Given the description of an element on the screen output the (x, y) to click on. 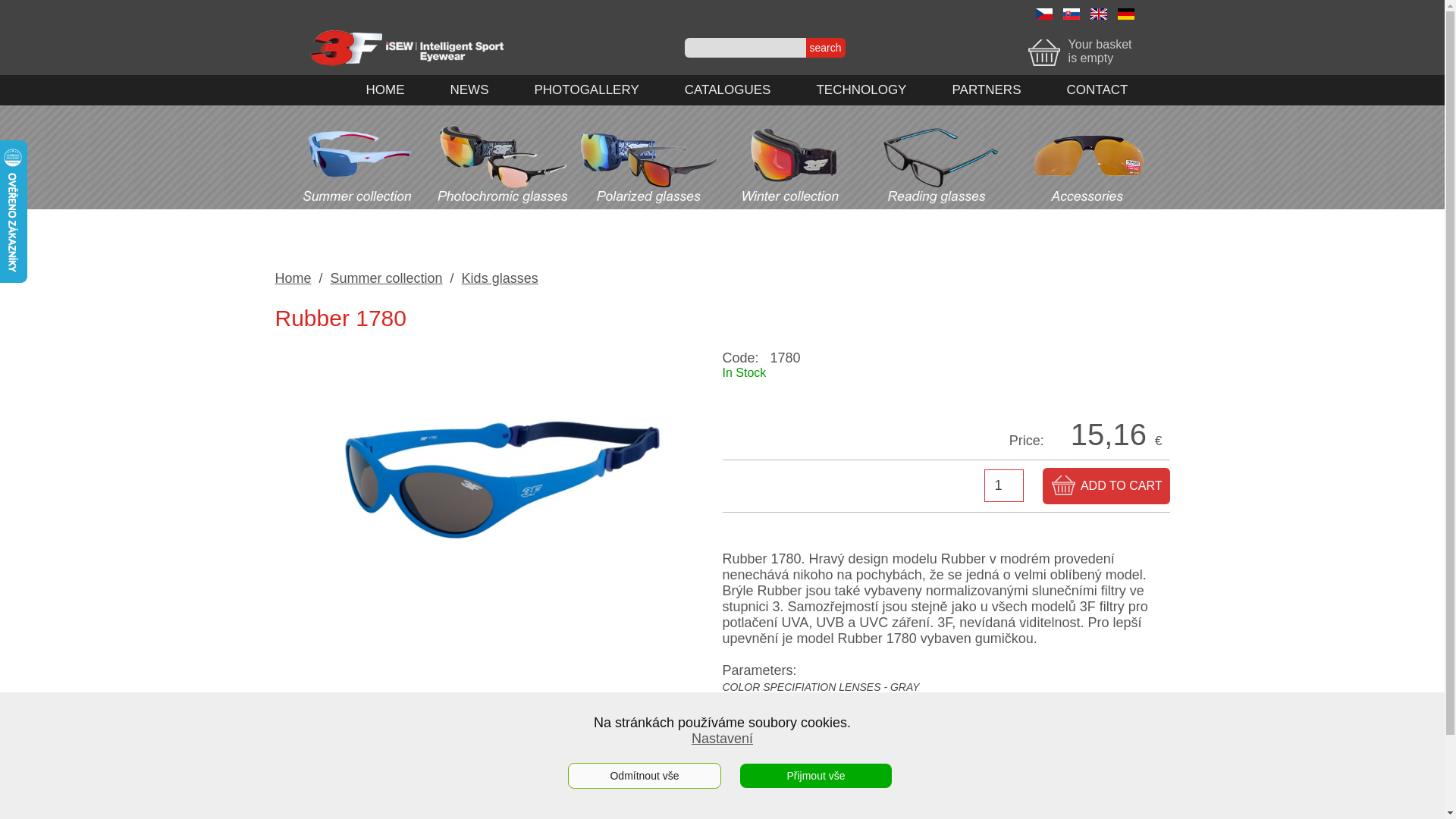
Accessories Element type: hover (1085, 200)
Home Element type: text (292, 277)
CATALOGUES Element type: text (727, 90)
TECHNOLOGY Element type: text (860, 90)
search Element type: text (824, 47)
Business terms Element type: text (569, 810)
Polarized glasses Element type: hover (647, 200)
NEWS Element type: text (469, 90)
Winter collection Element type: hover (793, 200)
Prescription glasses Element type: hover (939, 200)
CONTACT Element type: text (1096, 90)
Summer collection Element type: hover (355, 200)
home Element type: hover (407, 66)
PHOTOGALLERY Element type: text (586, 90)
Photochromic glasses Element type: hover (501, 200)
HOME Element type: text (384, 90)
Kids glasses Element type: text (499, 277)
Summer collection Element type: text (386, 277)
ADD TO CART Element type: text (1106, 485)
PARTNERS Element type: text (985, 90)
